Given the description of an element on the screen output the (x, y) to click on. 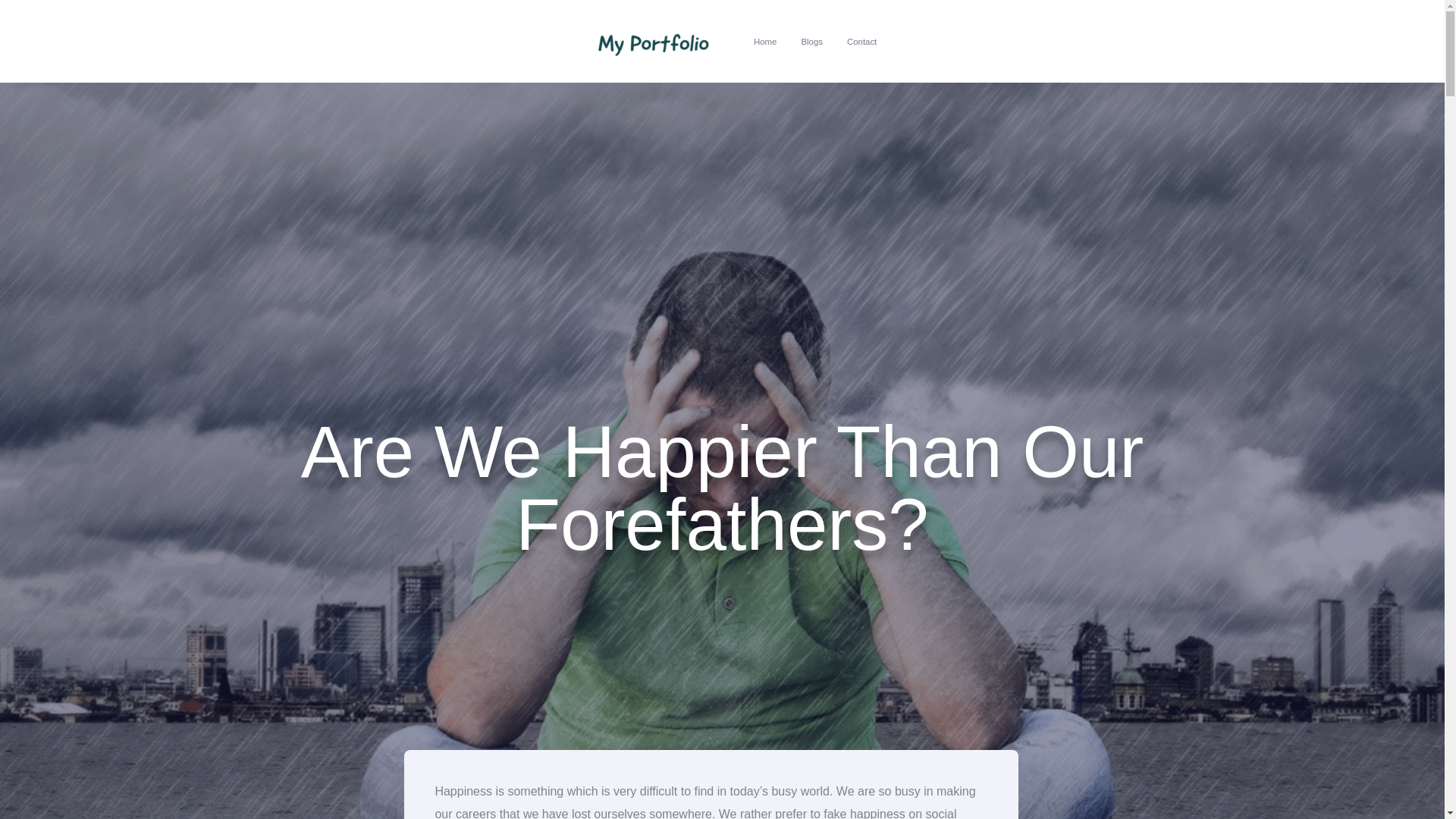
Contact (861, 41)
Blogs (811, 41)
Home (765, 41)
